Given the description of an element on the screen output the (x, y) to click on. 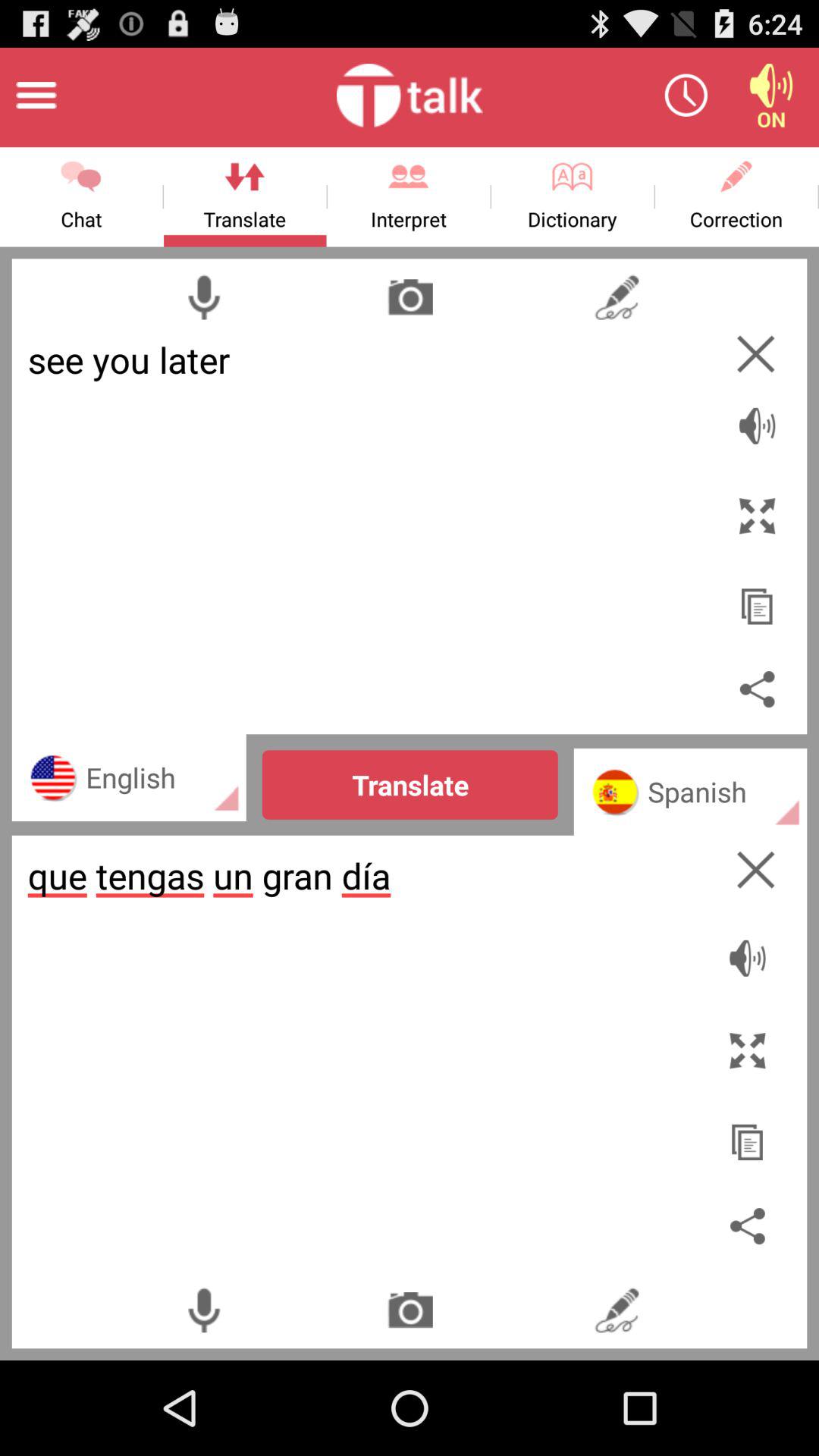
go to menu (36, 94)
